Given the description of an element on the screen output the (x, y) to click on. 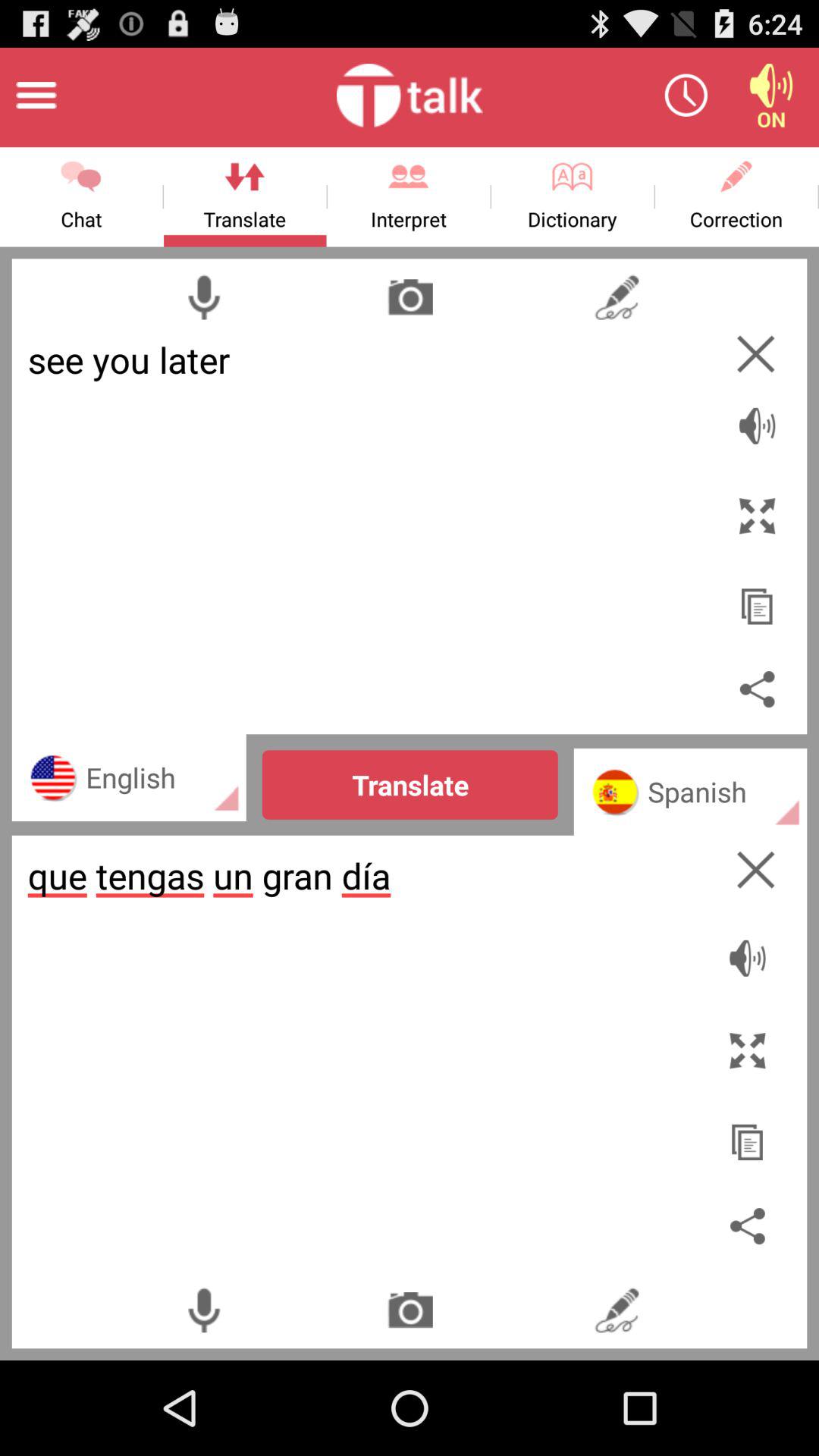
go to menu (36, 94)
